Given the description of an element on the screen output the (x, y) to click on. 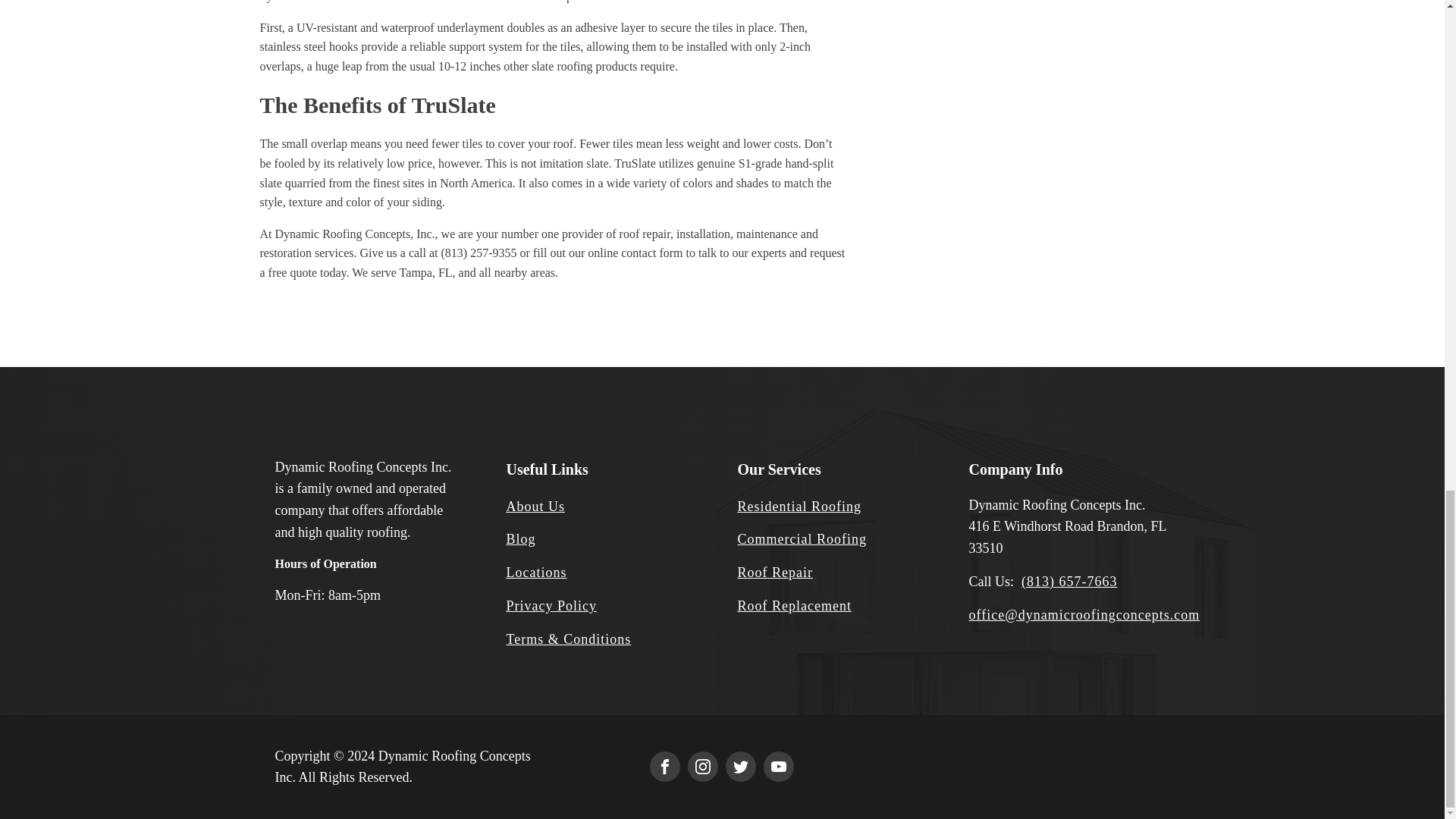
About Us (536, 506)
Blog (520, 539)
Locations (536, 572)
Privacy Policy (551, 606)
